Given the description of an element on the screen output the (x, y) to click on. 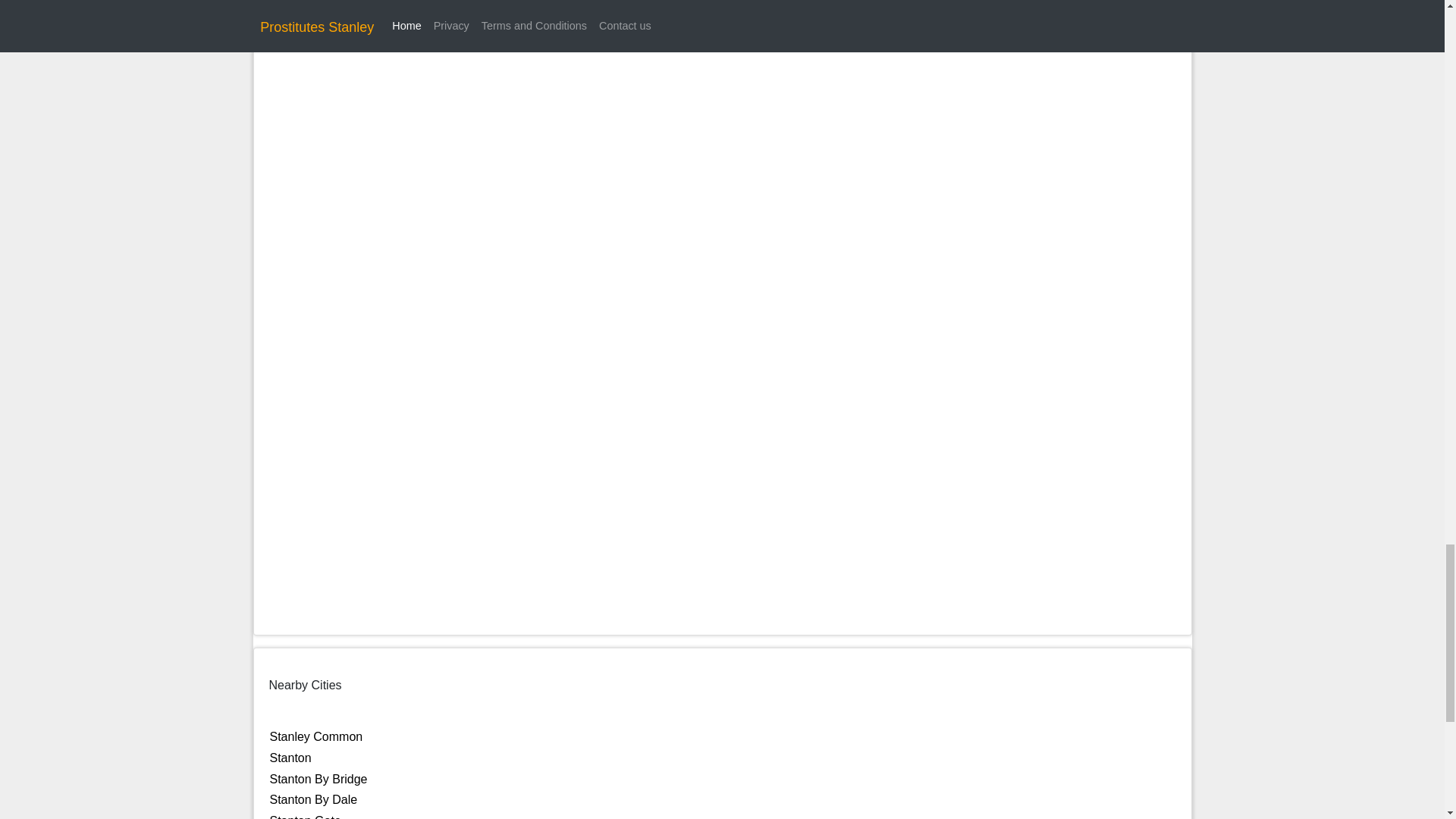
Stanton (290, 757)
Stanton By Dale (313, 799)
Stanton Gate (304, 816)
Stanton By Bridge (318, 779)
Stanley Common (315, 736)
